Given the description of an element on the screen output the (x, y) to click on. 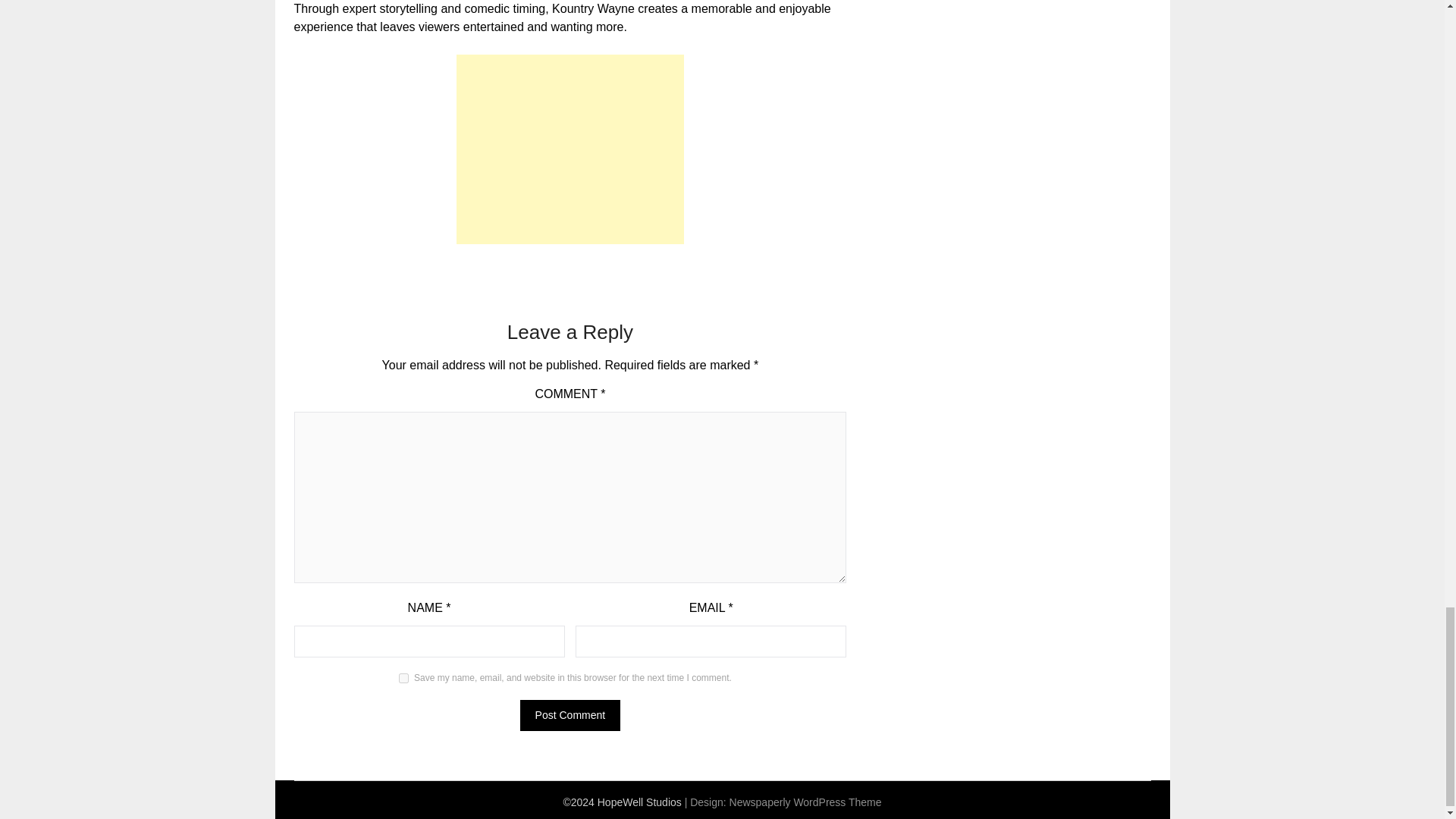
Post Comment (570, 715)
Newspaperly WordPress Theme (805, 802)
Advertisement (570, 149)
yes (403, 678)
Post Comment (570, 715)
